Given the description of an element on the screen output the (x, y) to click on. 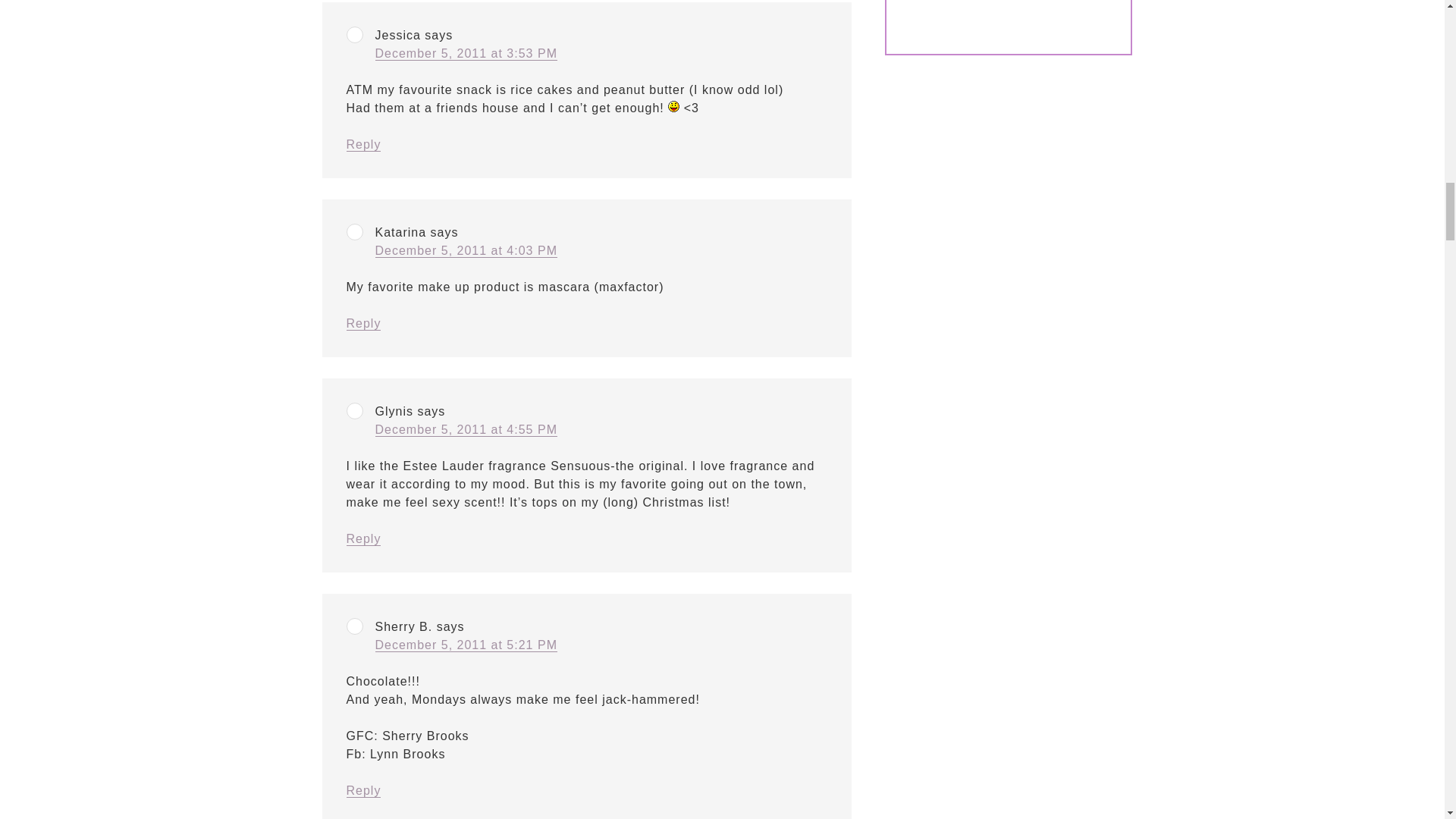
Reply (363, 144)
Reply (363, 323)
December 5, 2011 at 5:21 PM (465, 644)
Reply (363, 790)
December 5, 2011 at 4:03 PM (465, 250)
Reply (363, 539)
December 5, 2011 at 3:53 PM (465, 53)
December 5, 2011 at 4:55 PM (465, 429)
